Given the description of an element on the screen output the (x, y) to click on. 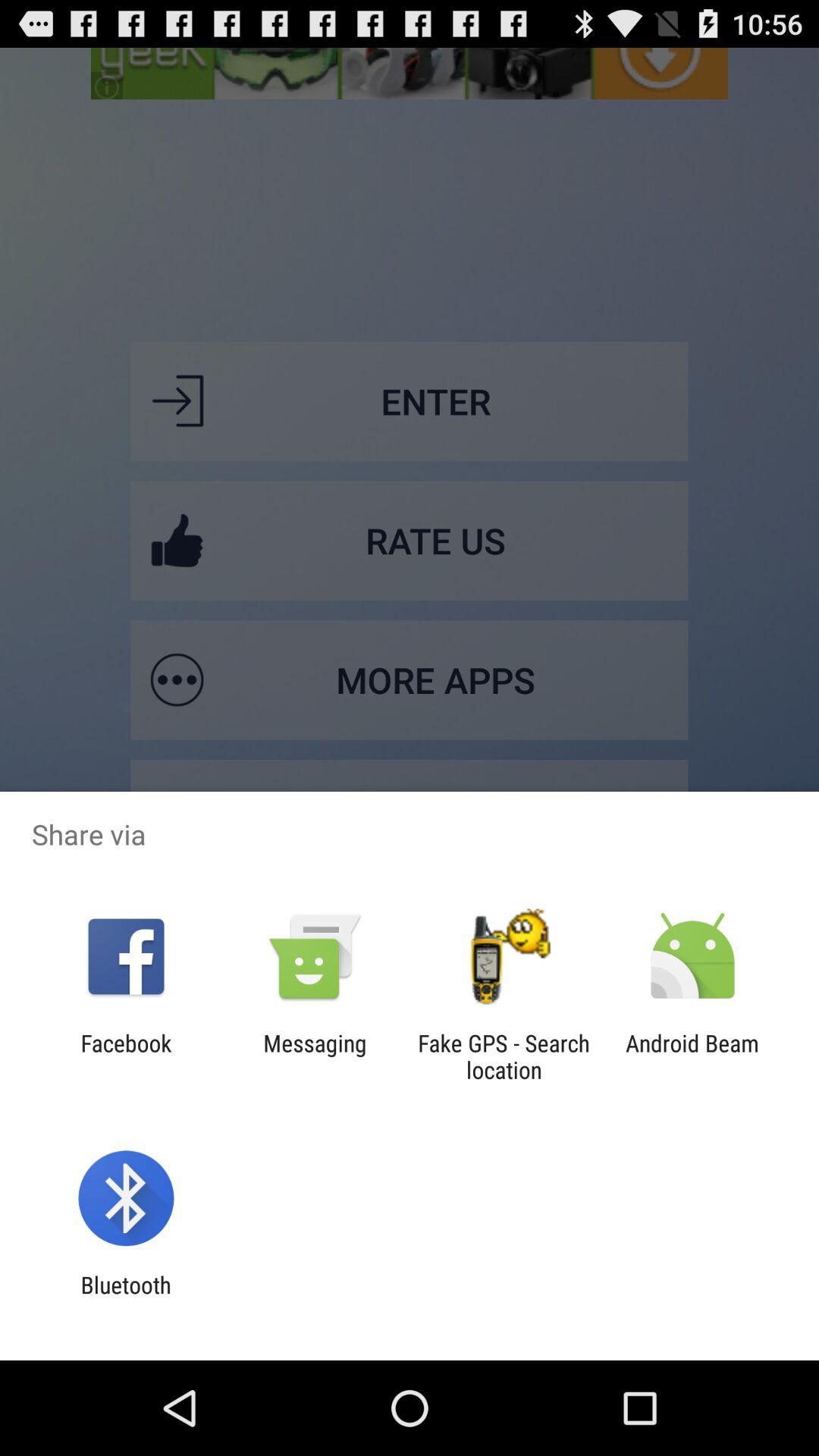
launch the android beam at the bottom right corner (692, 1056)
